Given the description of an element on the screen output the (x, y) to click on. 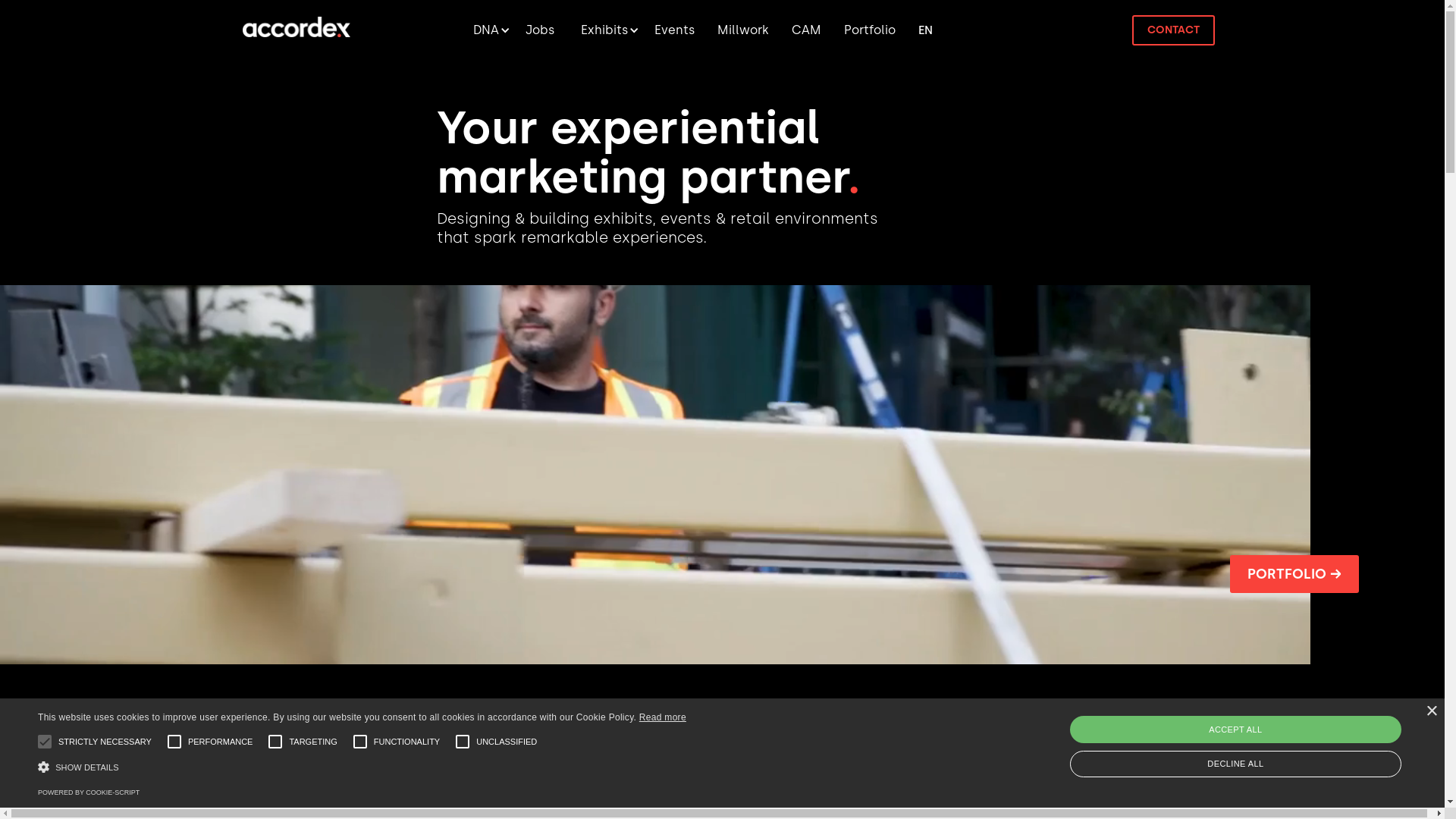
Jobs Element type: text (539, 30)
FR
EN Element type: text (925, 30)
Read more Element type: text (662, 717)
Portfolio Element type: text (869, 30)
CAM Element type: text (806, 30)
POWERED BY COOKIE-SCRIPT Element type: text (88, 792)
Events Element type: text (674, 30)
Millwork Element type: text (743, 30)
CONTACT Element type: text (1173, 30)
